Given the description of an element on the screen output the (x, y) to click on. 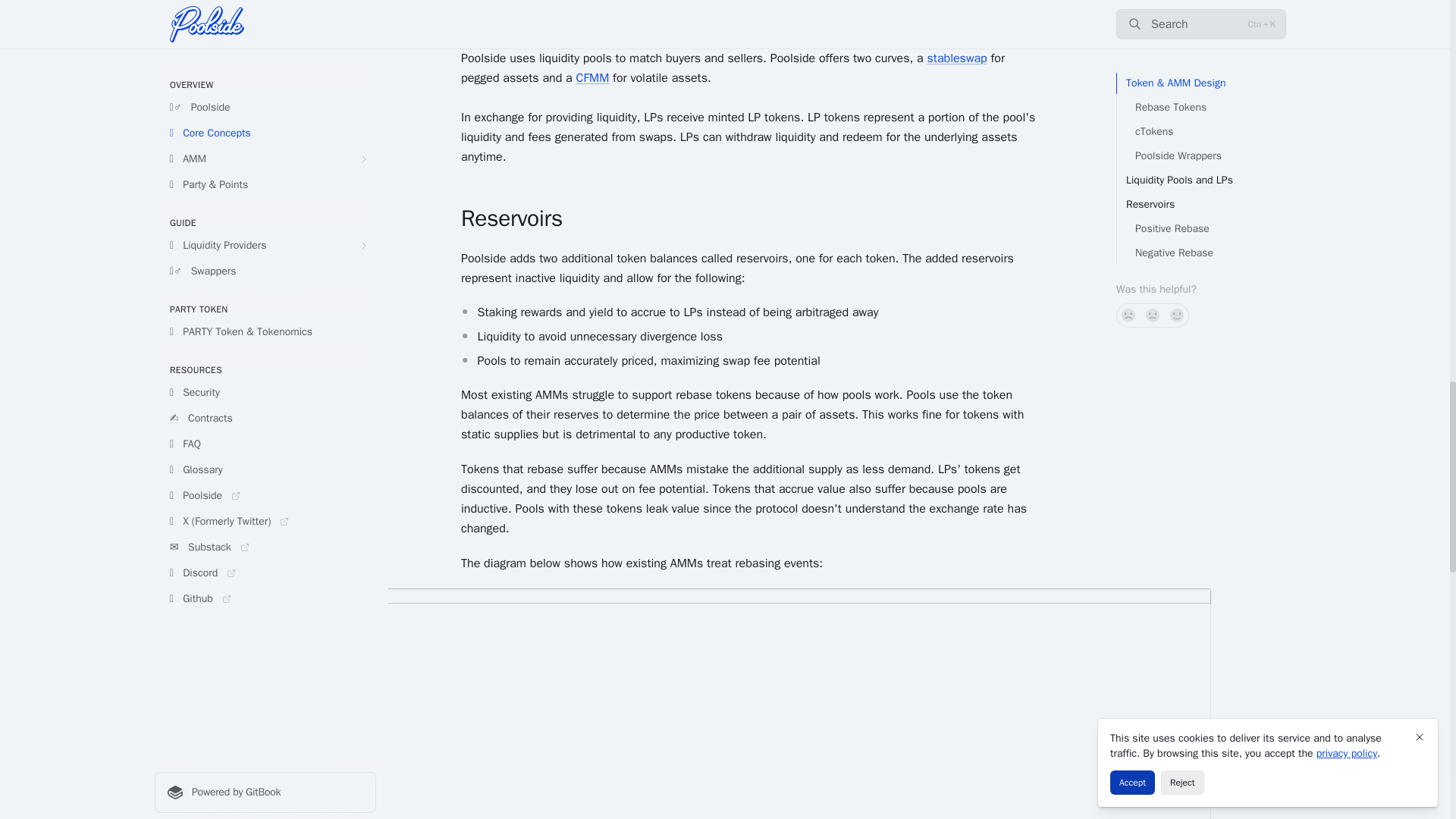
CFMM (591, 77)
stableswap (956, 58)
